Given the description of an element on the screen output the (x, y) to click on. 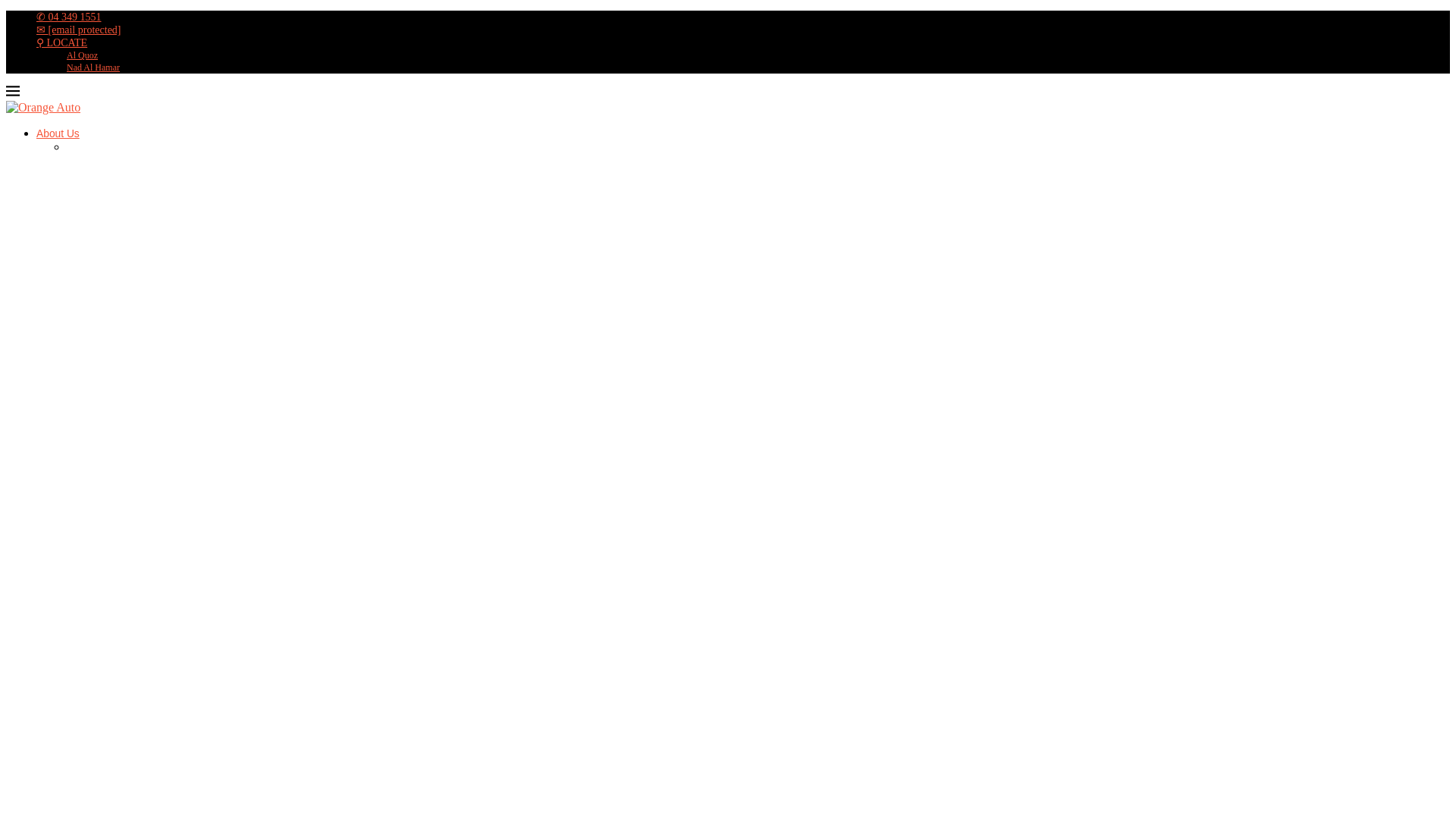
Nad Al Hamar (92, 67)
About Us (58, 133)
Al Quoz (81, 54)
